Given the description of an element on the screen output the (x, y) to click on. 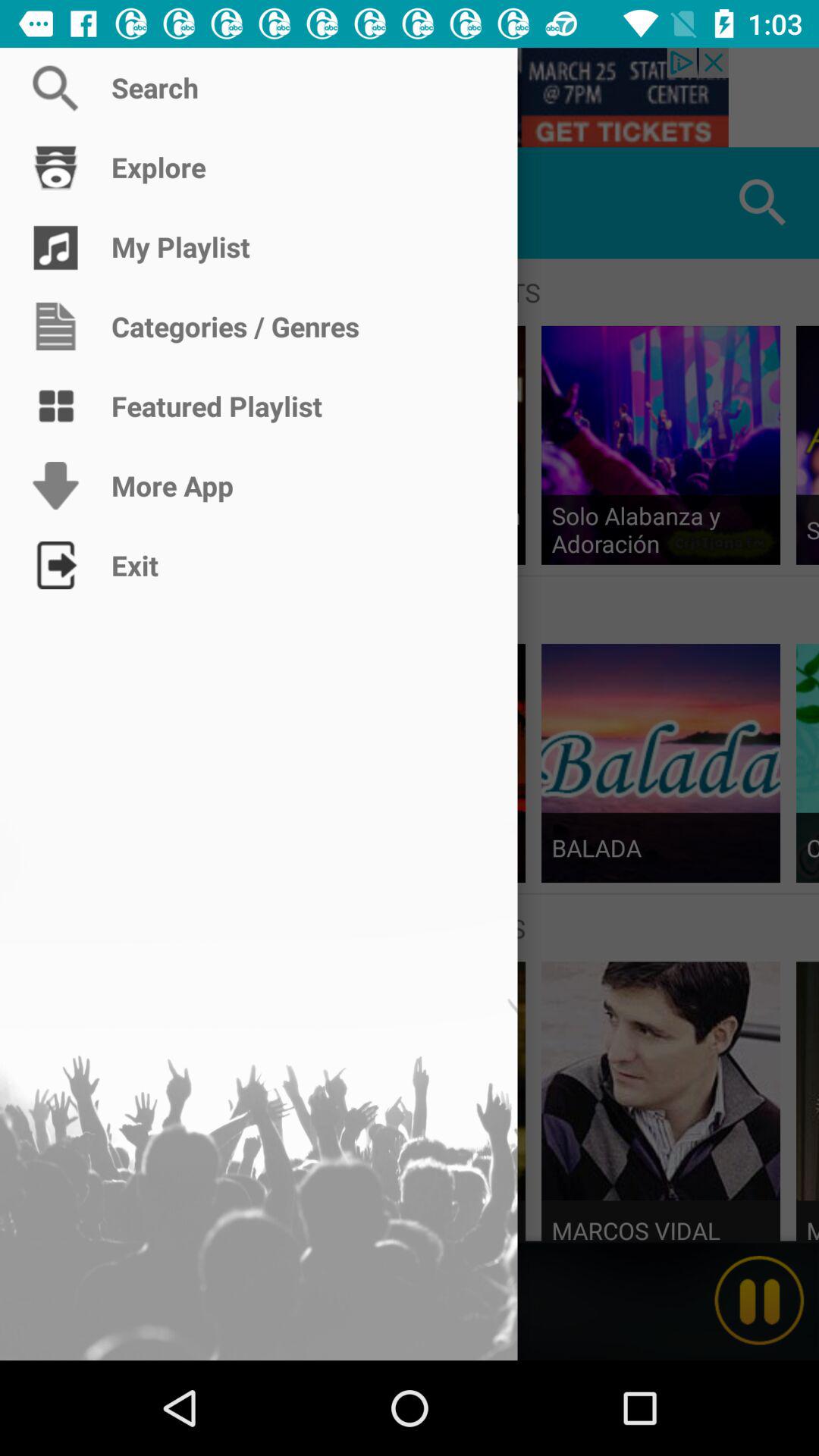
pause the video (759, 1300)
